Given the description of an element on the screen output the (x, y) to click on. 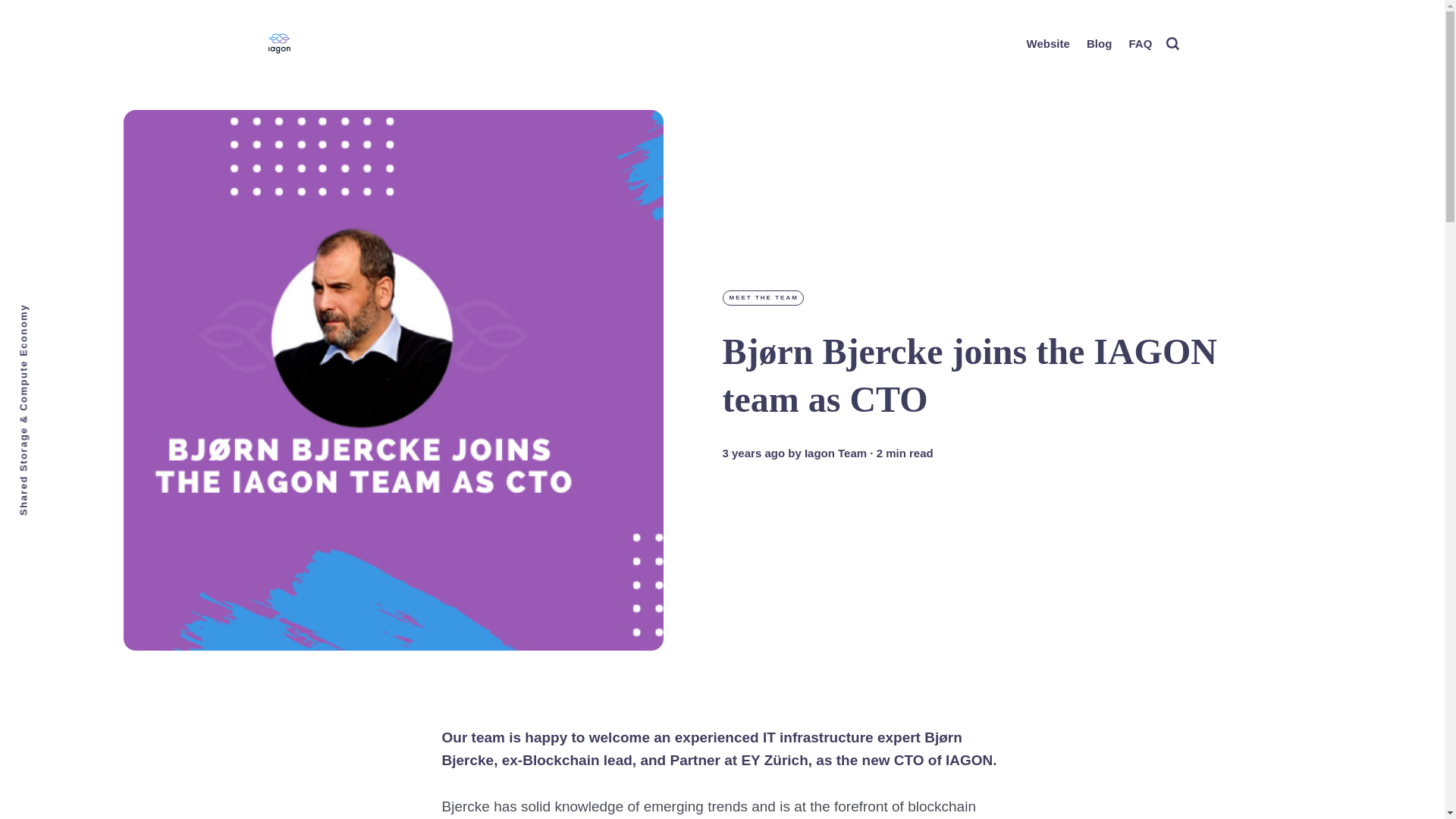
Iagon Team (835, 453)
Blog (1098, 43)
Website (1048, 43)
MEET THE TEAM (762, 297)
FAQ (1139, 43)
